Given the description of an element on the screen output the (x, y) to click on. 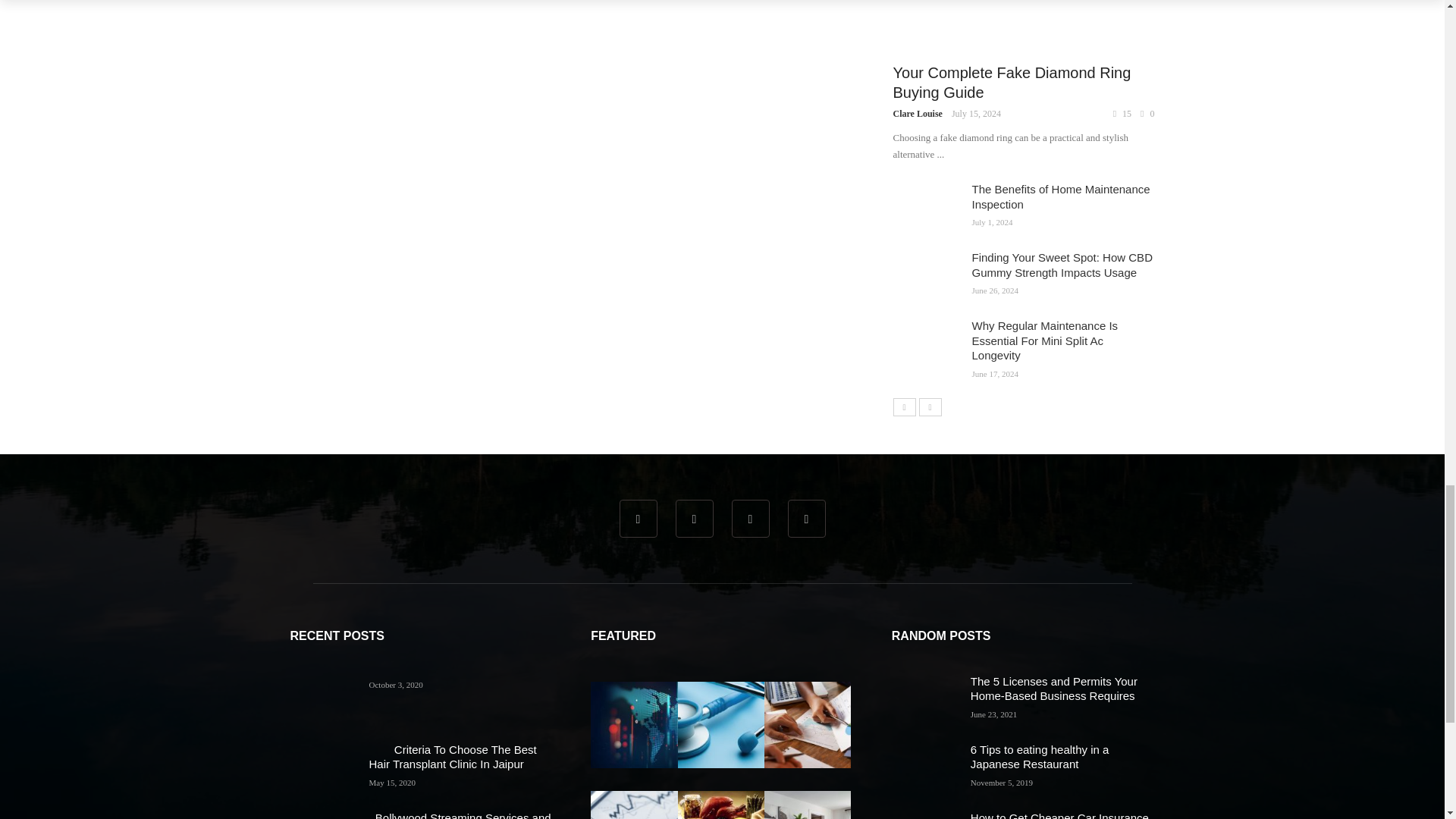
Next (930, 407)
Previous (904, 407)
